Given the description of an element on the screen output the (x, y) to click on. 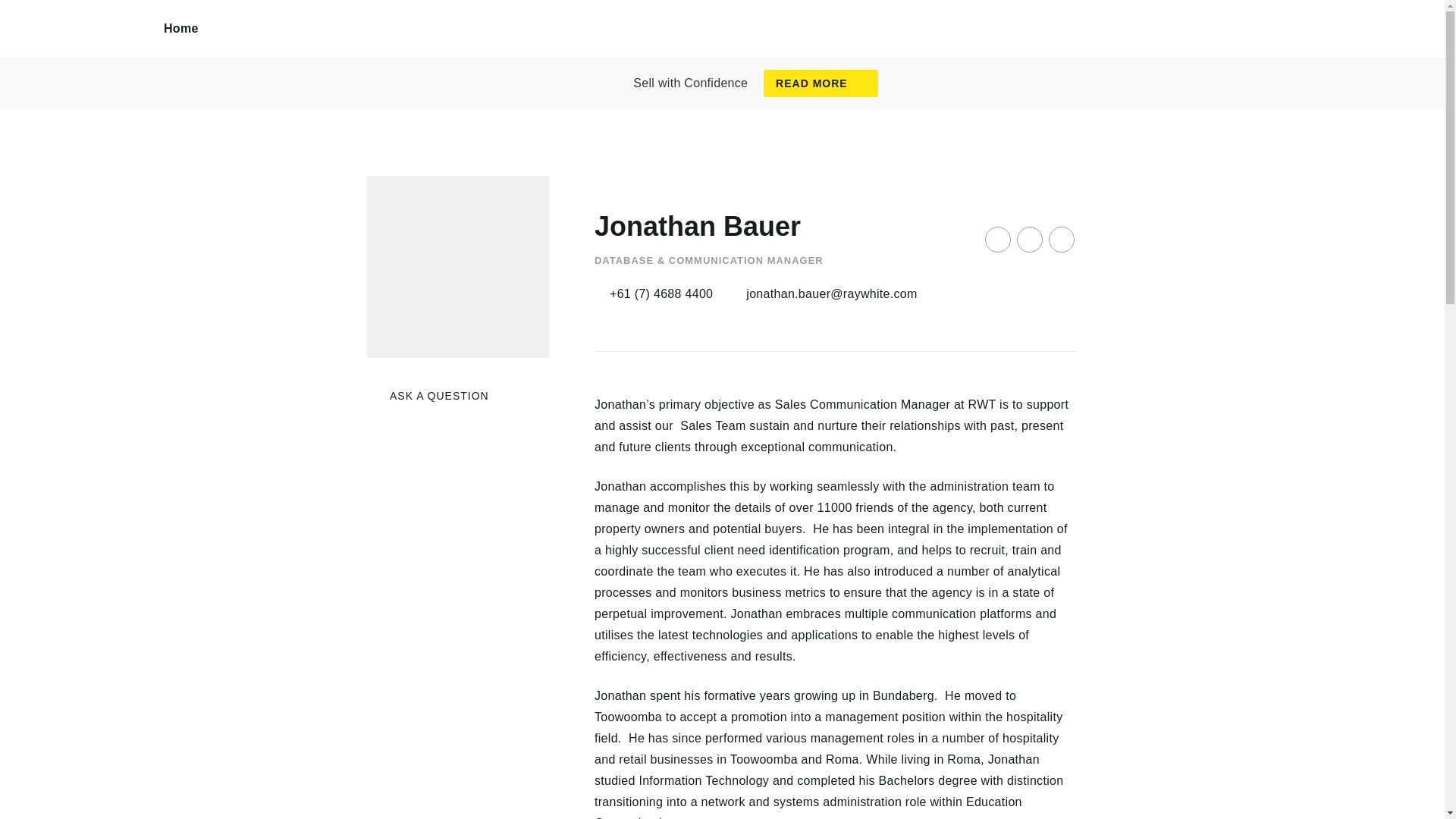
Youtube (1061, 239)
READ MORE (819, 83)
ASK A QUESTION (427, 396)
Ray White Rural Toowoomba (82, 45)
Instagram (1029, 239)
Facebook (997, 239)
Home (180, 28)
